Given the description of an element on the screen output the (x, y) to click on. 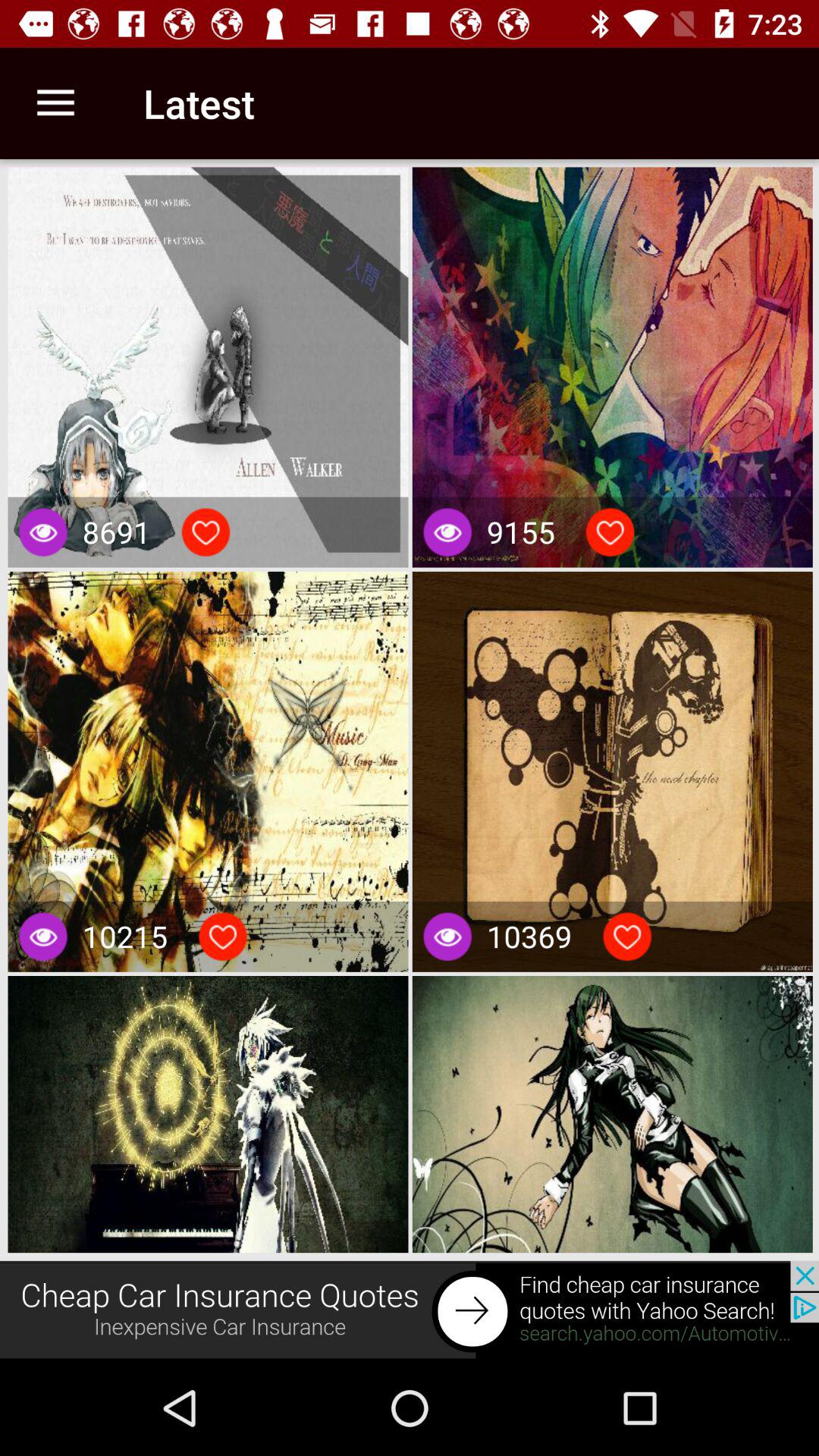
clickable advertisement (409, 1310)
